Given the description of an element on the screen output the (x, y) to click on. 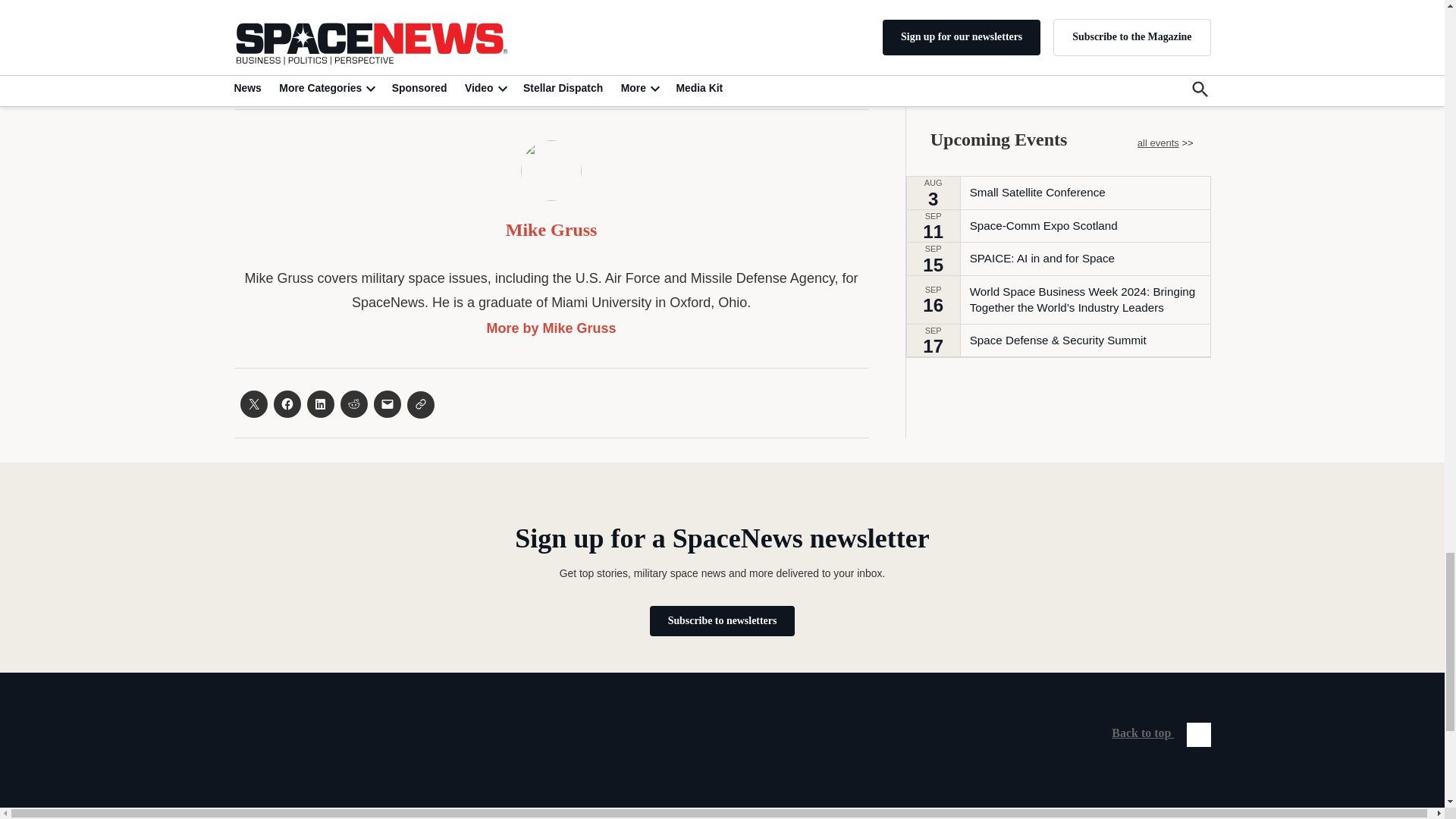
Click to share on Facebook (286, 403)
Click to email a link to a friend (386, 403)
Click to share on X (253, 403)
Click to share on Reddit (352, 403)
Click to share on LinkedIn (319, 403)
